Given the description of an element on the screen output the (x, y) to click on. 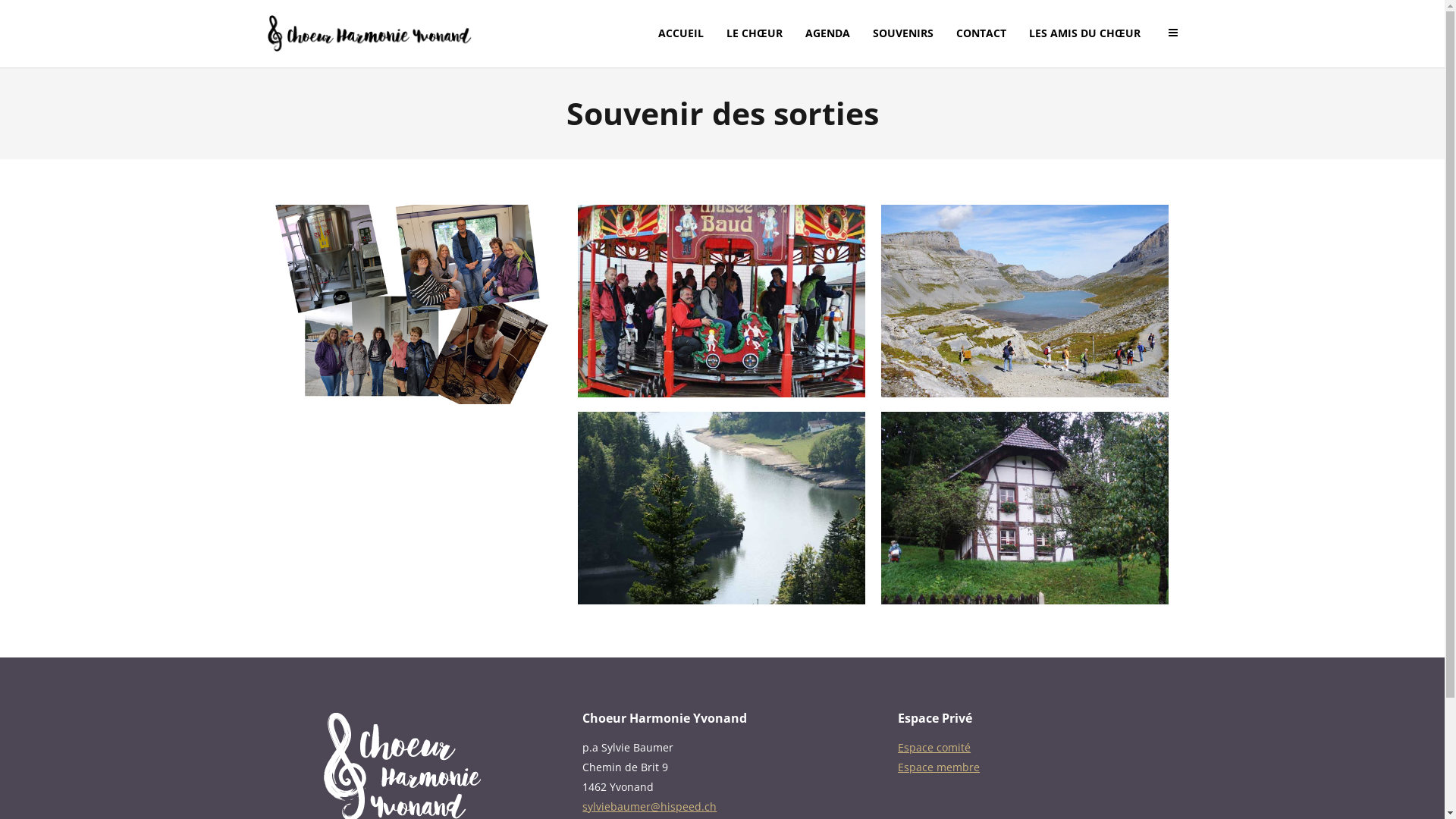
sylviebaumer@hispeed.ch Element type: text (649, 806)
Espace membre Element type: text (938, 766)
2009 Le saut du Doubs Element type: hover (721, 507)
2008 Ballenberg Element type: hover (1025, 507)
